Given the description of an element on the screen output the (x, y) to click on. 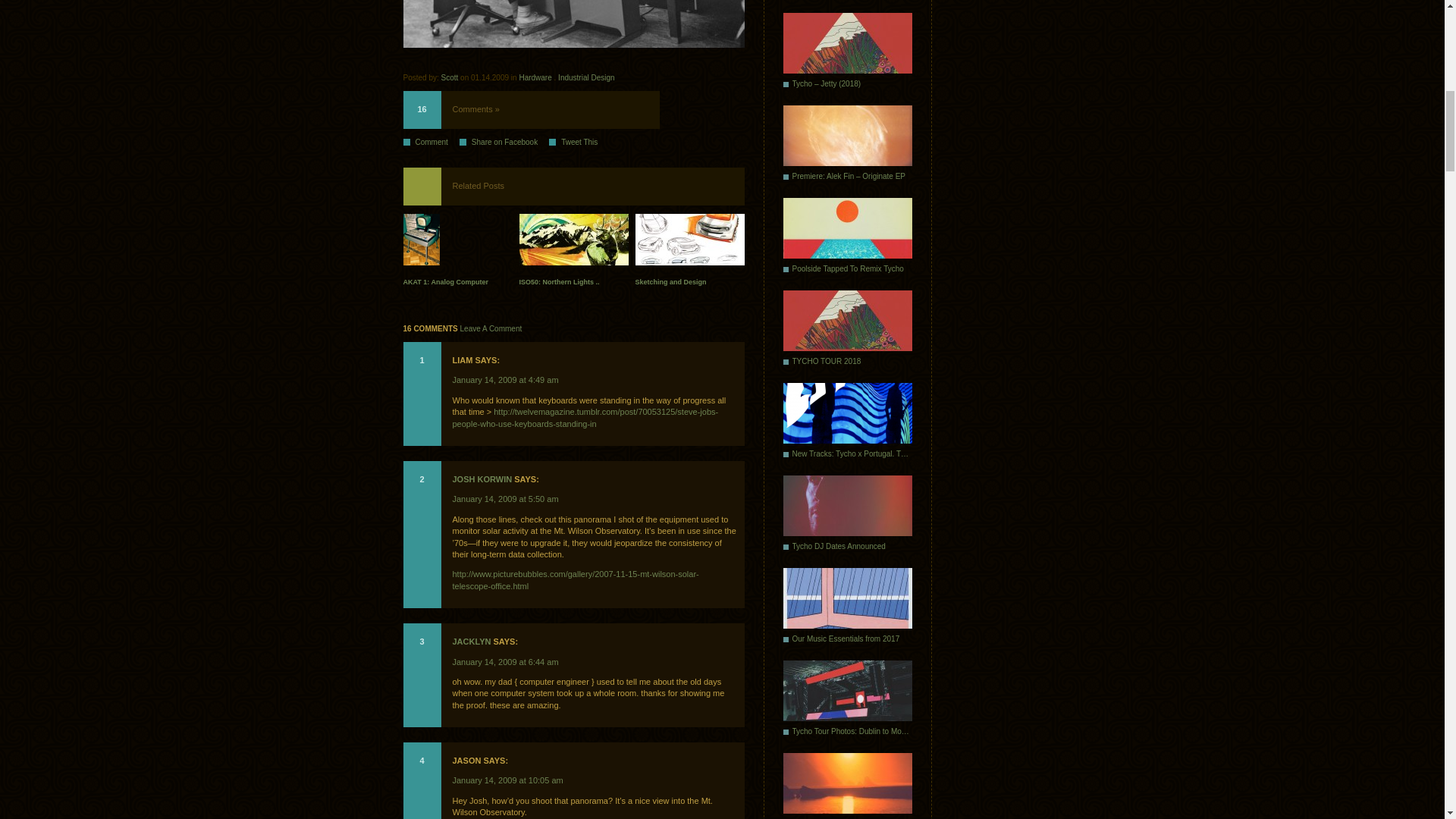
January 14, 2009 at 6:44 am (504, 660)
leopard-preview-server-1 (573, 23)
Industrial Design (585, 77)
Send this post to Twitter (578, 142)
Leave A Comment (491, 328)
Share on Facebook (504, 142)
Scott (449, 77)
ISO50: Northern Lights .. (572, 252)
Hardware (534, 77)
AKAT 1: Analog Computer (457, 252)
Posts by Scott (449, 77)
Tweet This (578, 142)
Sketching and Design (689, 252)
January 14, 2009 at 4:49 am (504, 379)
JACKLYN (470, 641)
